Given the description of an element on the screen output the (x, y) to click on. 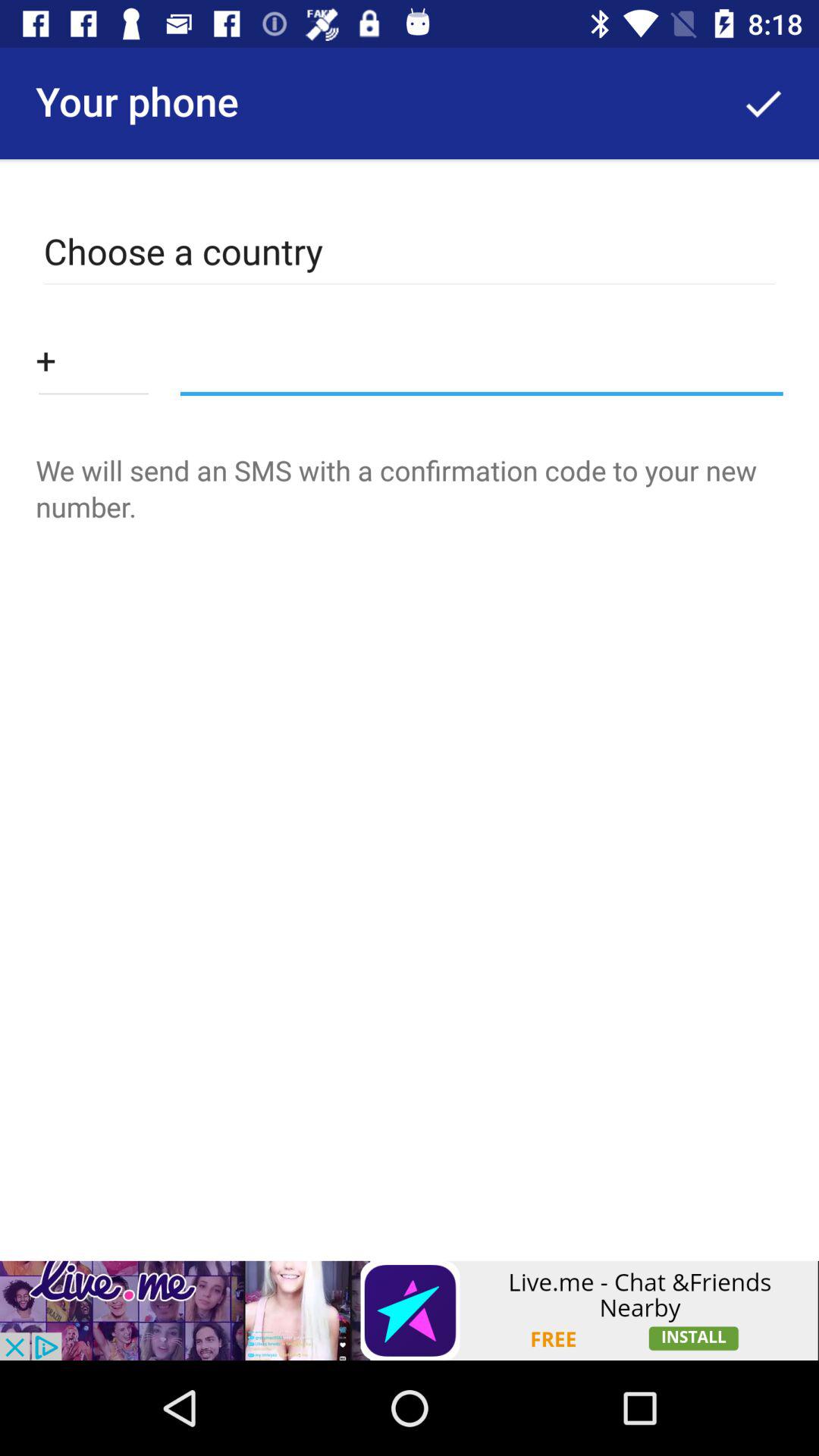
see drop down menu (93, 359)
